Given the description of an element on the screen output the (x, y) to click on. 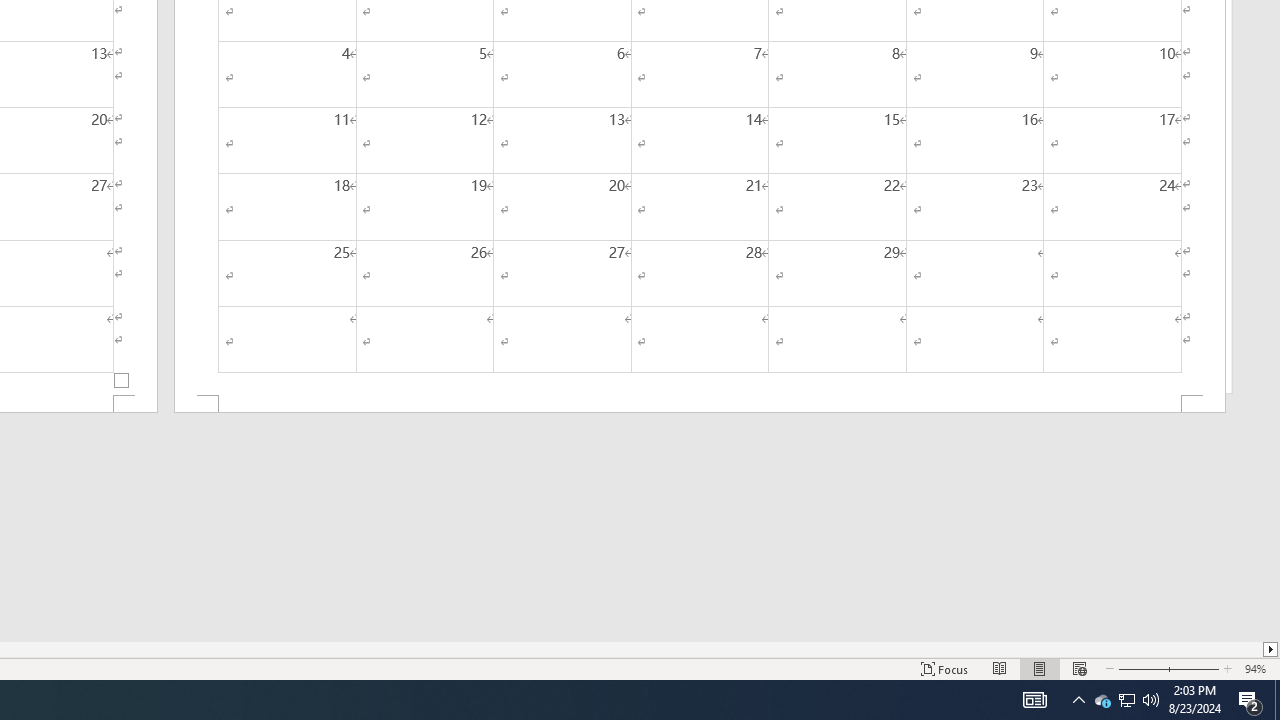
Column right (1271, 649)
Footer -Section 2- (700, 404)
